Given the description of an element on the screen output the (x, y) to click on. 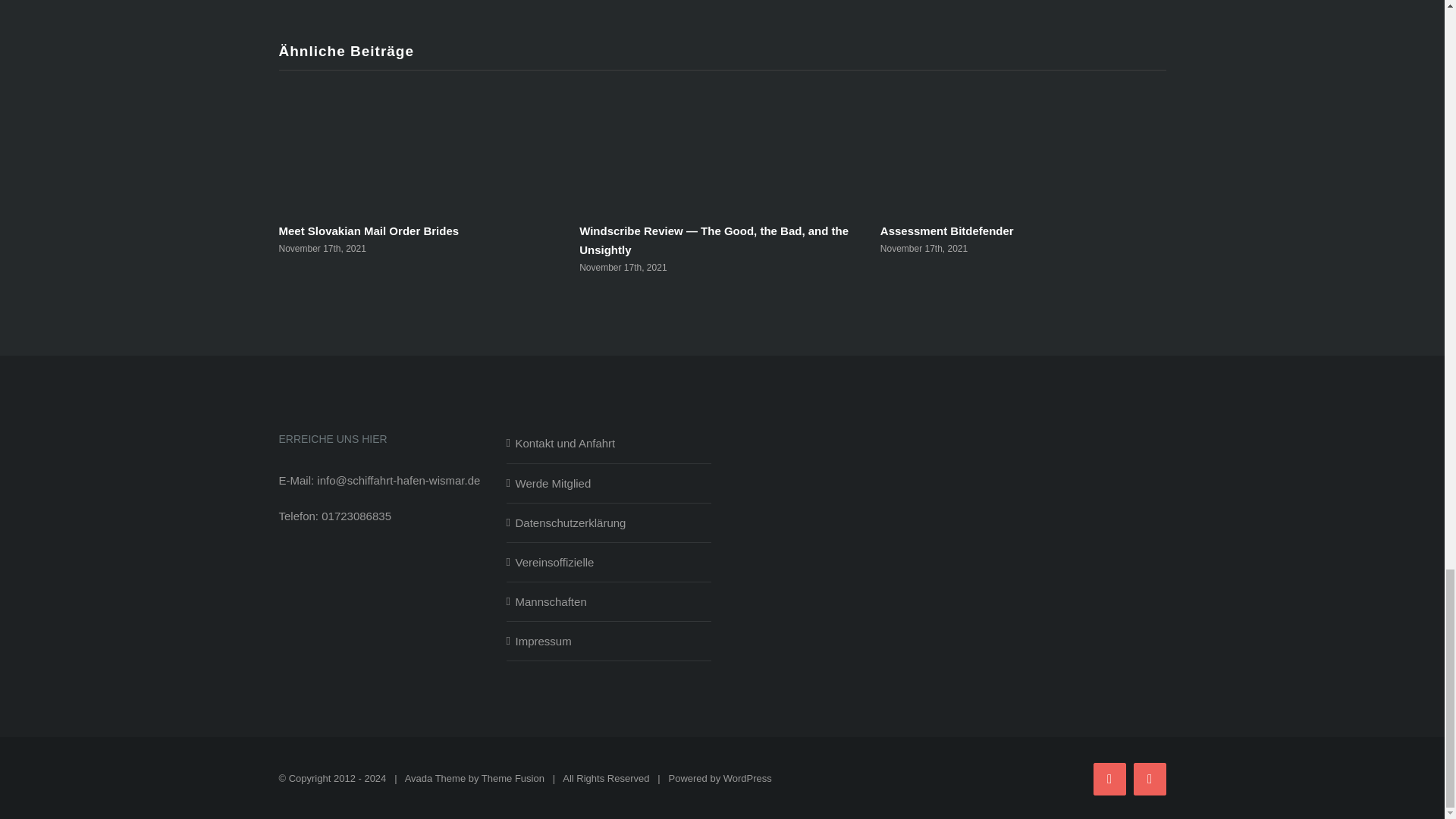
Meet Slovakian Mail Order Brides (368, 230)
Assessment Bitdefender (946, 230)
